Given the description of an element on the screen output the (x, y) to click on. 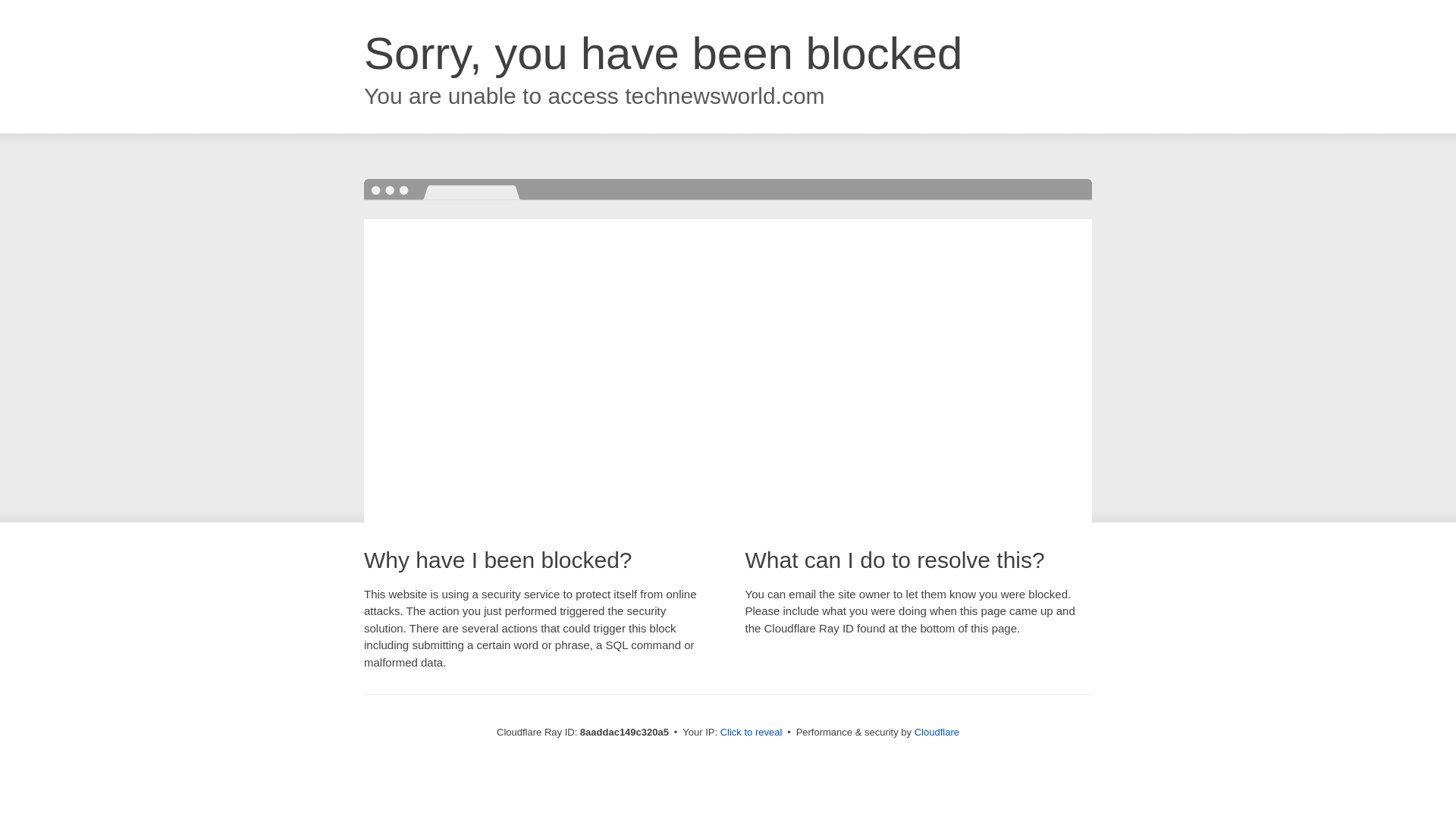
Click to reveal (751, 732)
Cloudflare (936, 731)
